Given the description of an element on the screen output the (x, y) to click on. 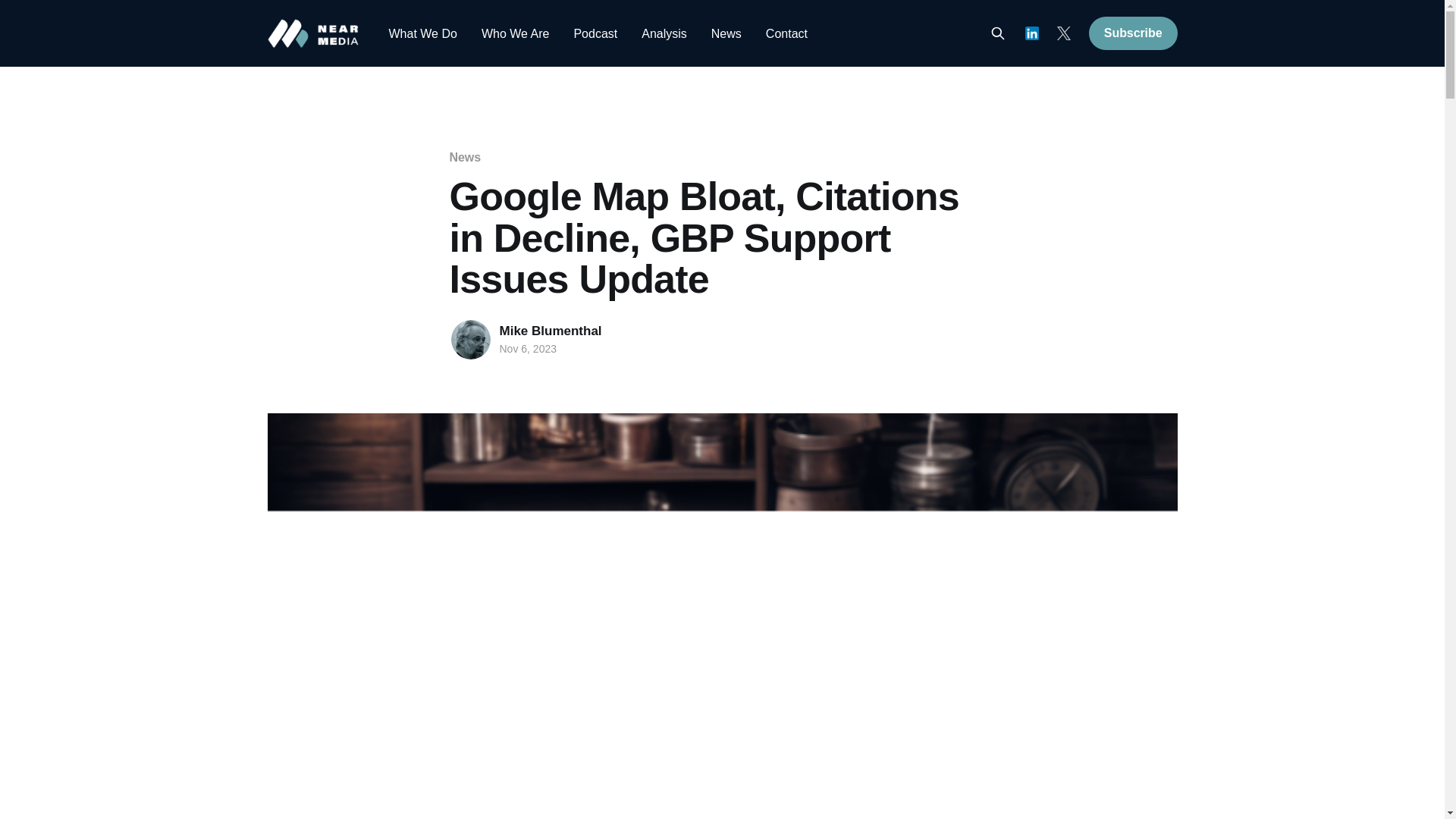
News (464, 156)
What We Do (422, 33)
Mike Blumenthal (550, 330)
Podcast (595, 33)
Contact (786, 33)
Who We Are (515, 33)
Subscribe (1133, 32)
News (726, 33)
Analysis (664, 33)
